Given the description of an element on the screen output the (x, y) to click on. 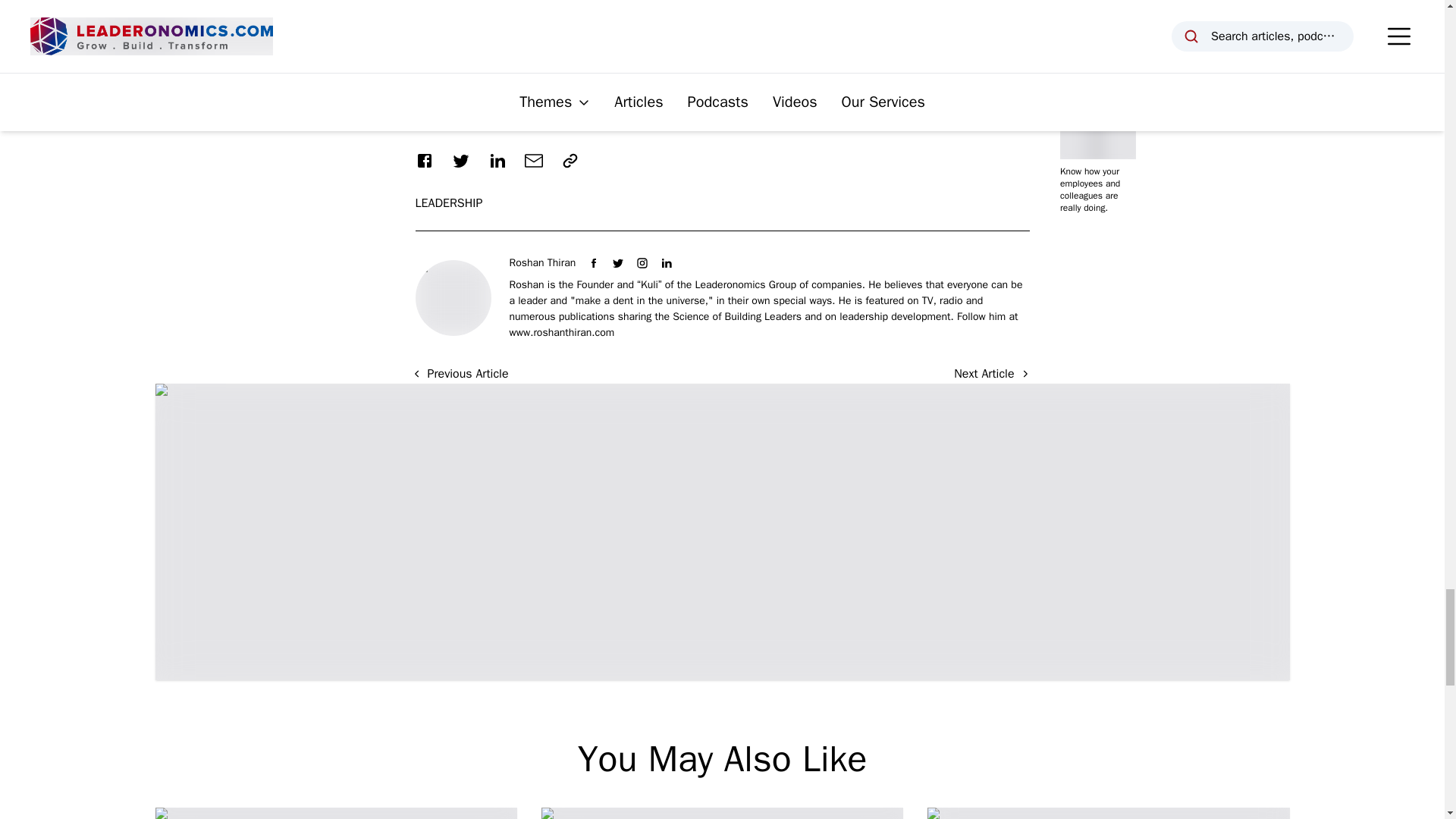
Next Article (991, 374)
Previous Article (460, 373)
Roshan Thiran (542, 263)
